Given the description of an element on the screen output the (x, y) to click on. 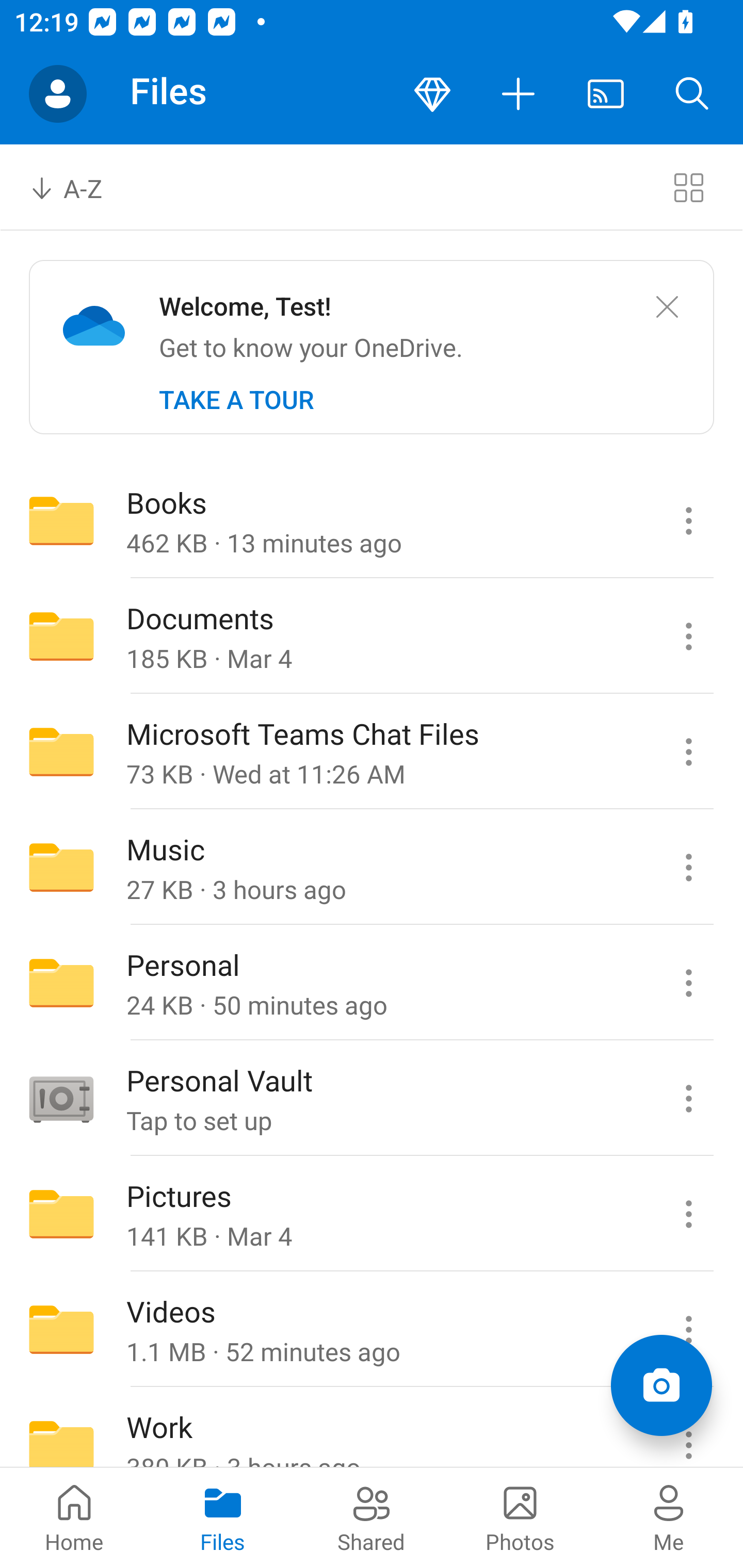
Account switcher (57, 93)
Cast. Disconnected (605, 93)
Premium button (432, 93)
More actions button (518, 93)
Search button (692, 93)
A-Z Sort by combo box, sort by name, A to Z (80, 187)
Switch to tiles view (688, 187)
Close (667, 307)
TAKE A TOUR (236, 399)
Books commands (688, 520)
Folder Documents 185 KB · Mar 4 Documents commands (371, 636)
Documents commands (688, 636)
Microsoft Teams Chat Files commands (688, 751)
Folder Music 27 KB · 3 hours ago Music commands (371, 867)
Music commands (688, 867)
Personal commands (688, 983)
Personal Vault commands (688, 1099)
Folder Pictures 141 KB · Mar 4 Pictures commands (371, 1214)
Pictures commands (688, 1214)
Videos commands (688, 1329)
Add items Scan (660, 1385)
Folder Work 380 KB · 3 hours ago Work commands (371, 1427)
Work commands (688, 1427)
Home pivot Home (74, 1517)
Shared pivot Shared (371, 1517)
Photos pivot Photos (519, 1517)
Me pivot Me (668, 1517)
